Given the description of an element on the screen output the (x, y) to click on. 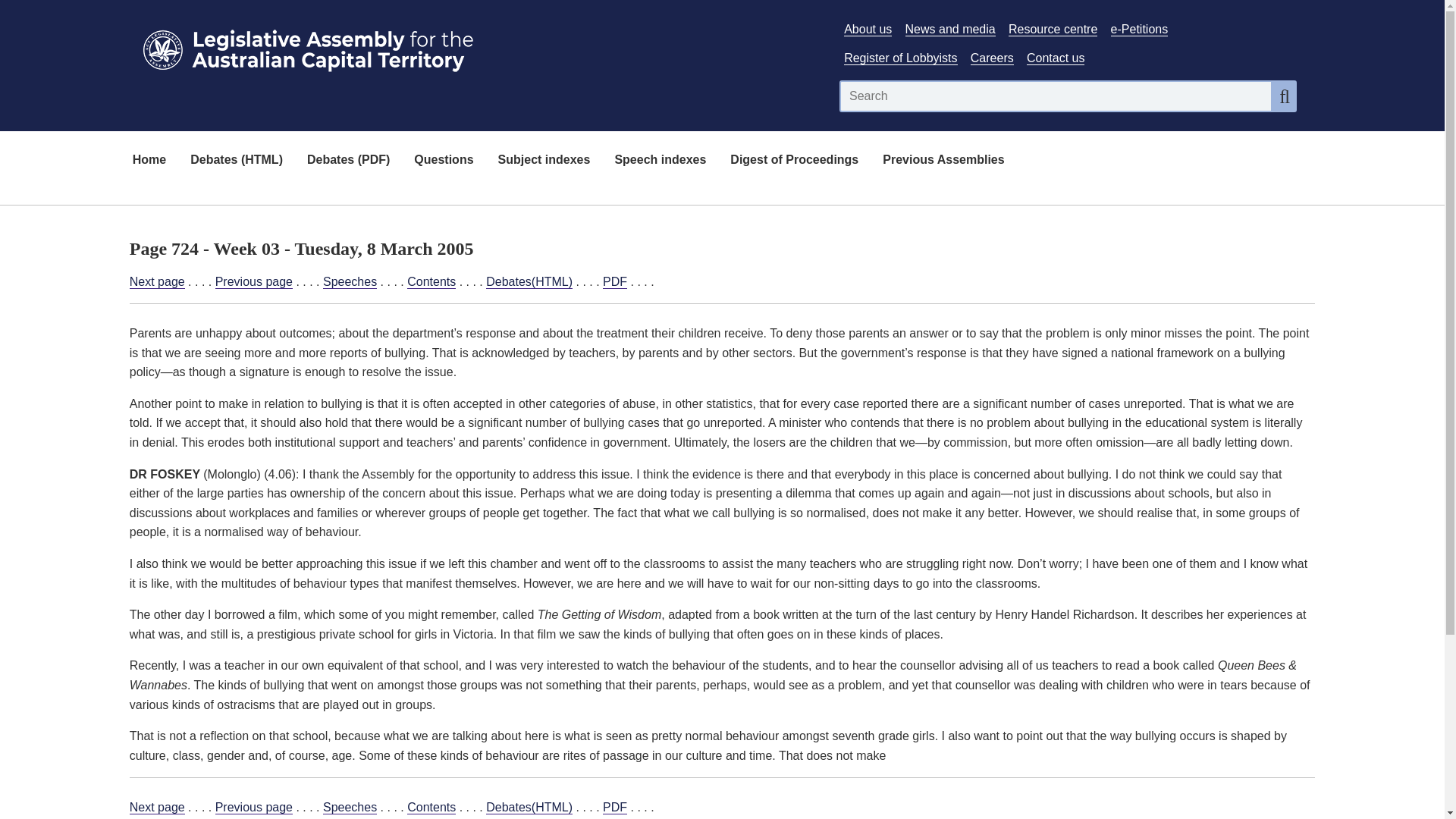
e-Petitions (1139, 29)
Search input field (1056, 96)
Link to Careers (992, 58)
Link to Homepage (475, 46)
Register of Lobbyists (900, 58)
Speeches (350, 807)
Careers (992, 58)
About us (867, 29)
Previous page (253, 282)
Link to Contact Us (1055, 58)
